Given the description of an element on the screen output the (x, y) to click on. 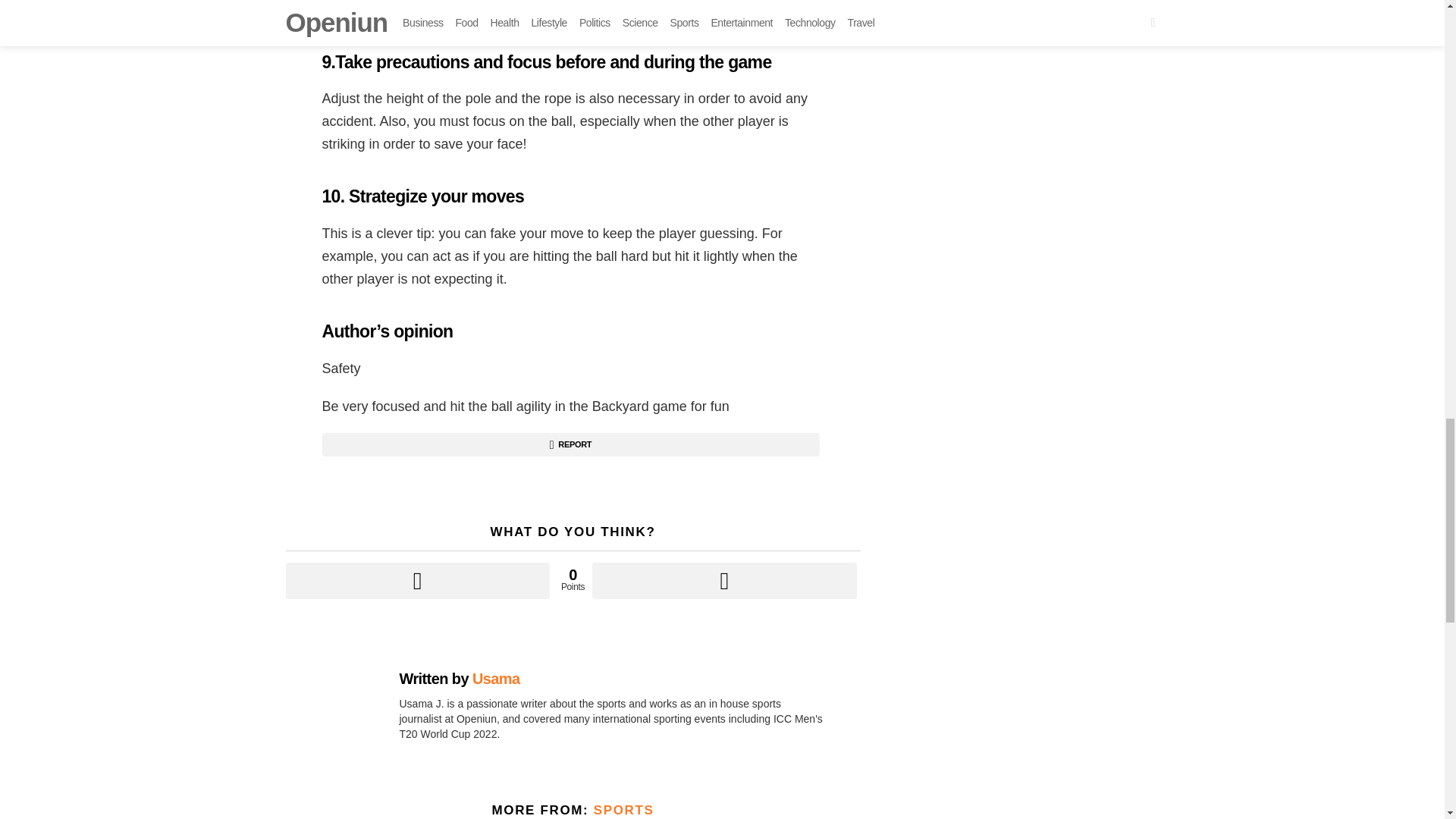
Upvote (416, 580)
Usama (495, 678)
Downvote (724, 580)
REPORT (569, 444)
SPORTS (623, 810)
Upvote (416, 580)
Downvote (724, 580)
